Given the description of an element on the screen output the (x, y) to click on. 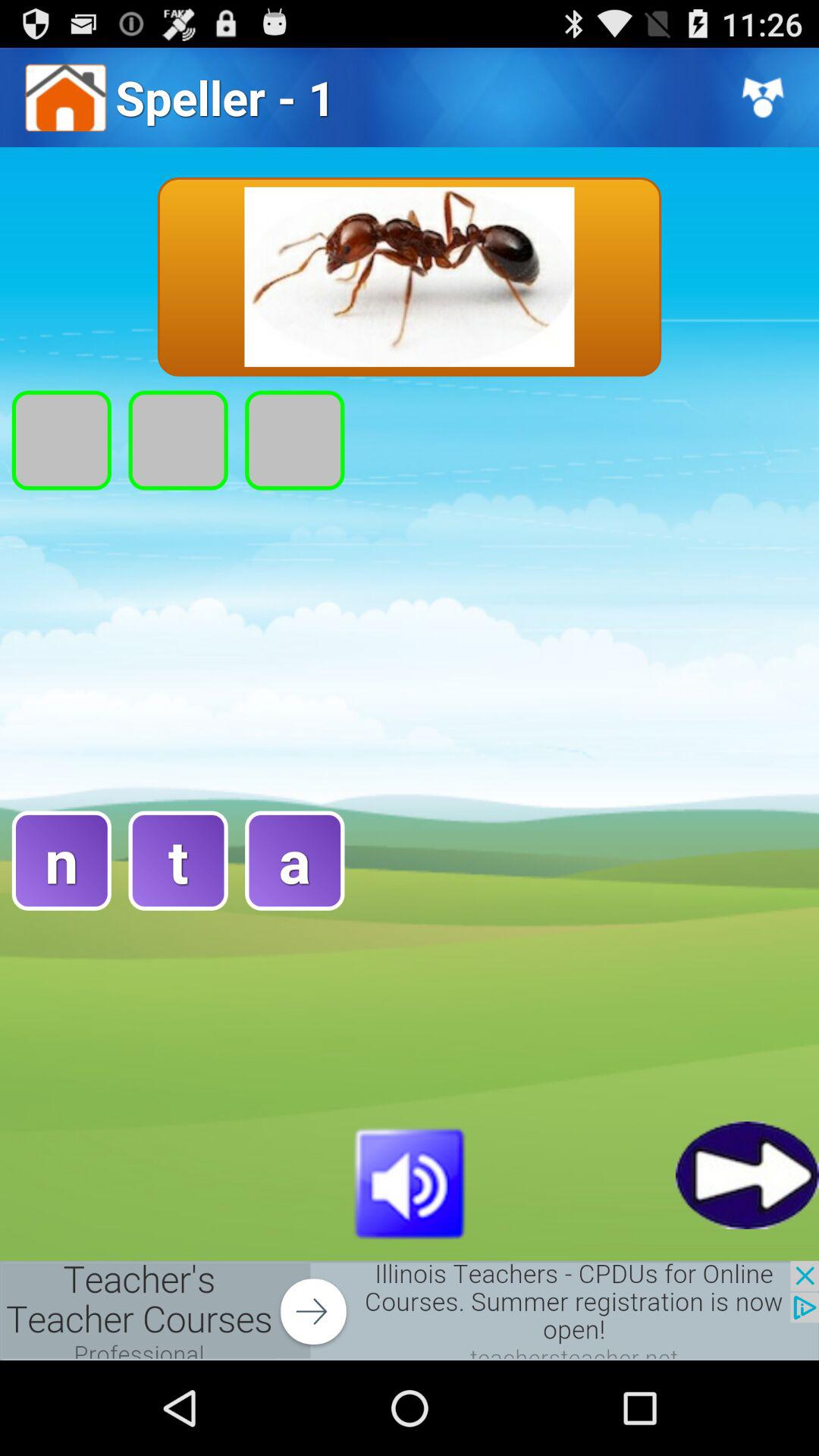
go to next (747, 1175)
